Given the description of an element on the screen output the (x, y) to click on. 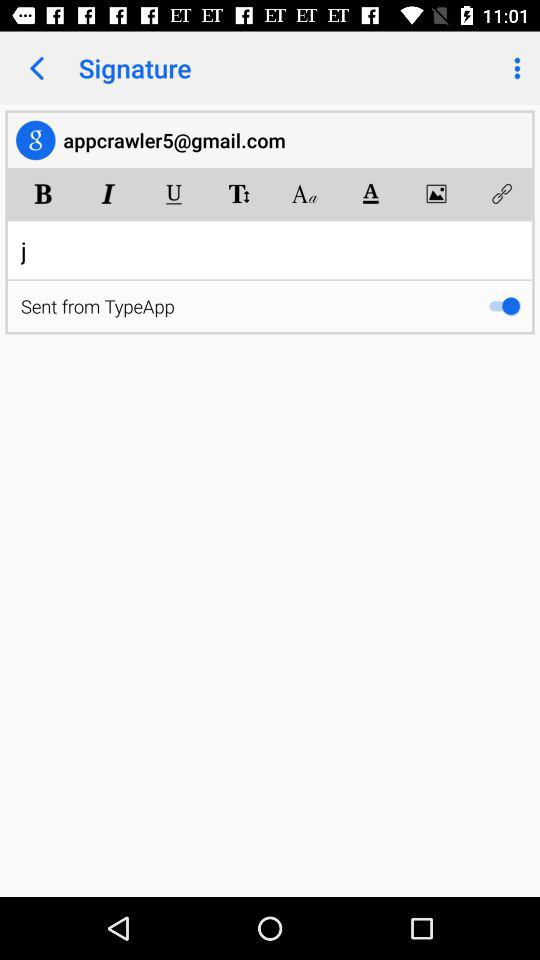
launch icon above j (501, 193)
